Given the description of an element on the screen output the (x, y) to click on. 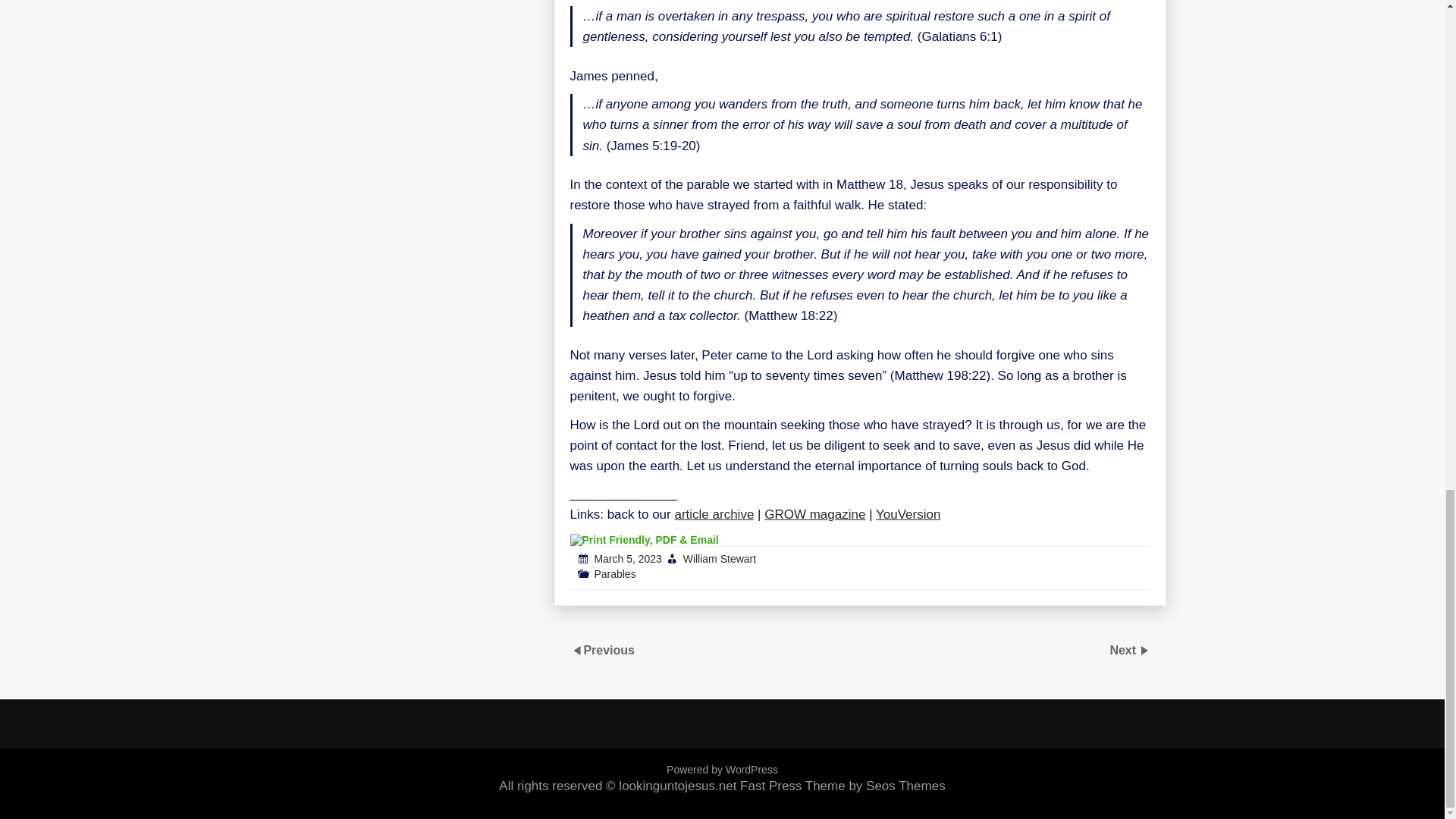
Previous (608, 649)
Seos Theme - Fast Press (841, 785)
Next (1123, 649)
GROW magazine (814, 513)
article archive (714, 513)
YouVersion (908, 513)
Parables (614, 573)
March 5, 2023 (628, 558)
William Stewart (718, 558)
